Given the description of an element on the screen output the (x, y) to click on. 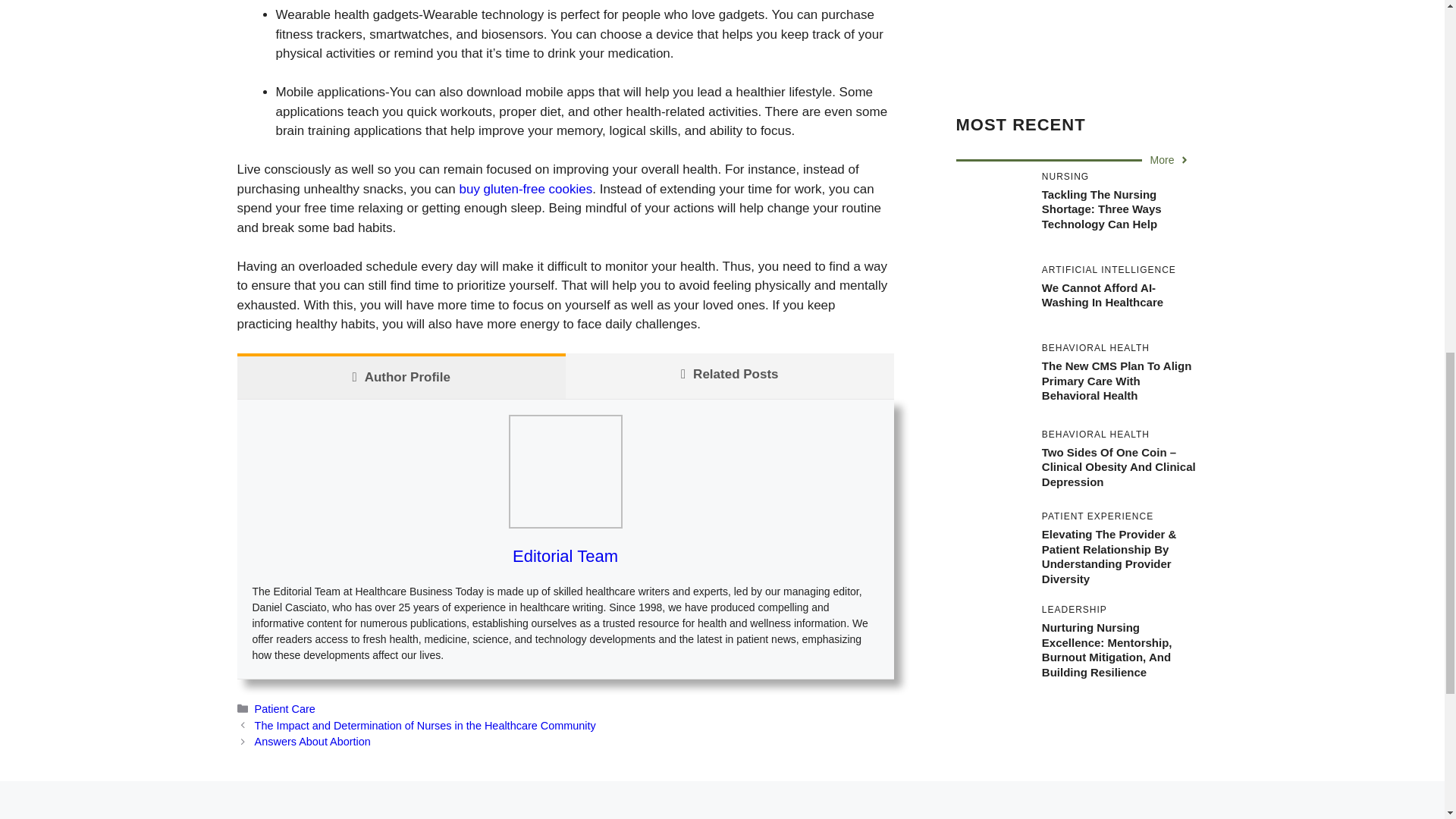
Editorial Team (564, 556)
Answers About Abortion (312, 741)
buy gluten-free cookies (525, 188)
Patient Care (284, 708)
